Given the description of an element on the screen output the (x, y) to click on. 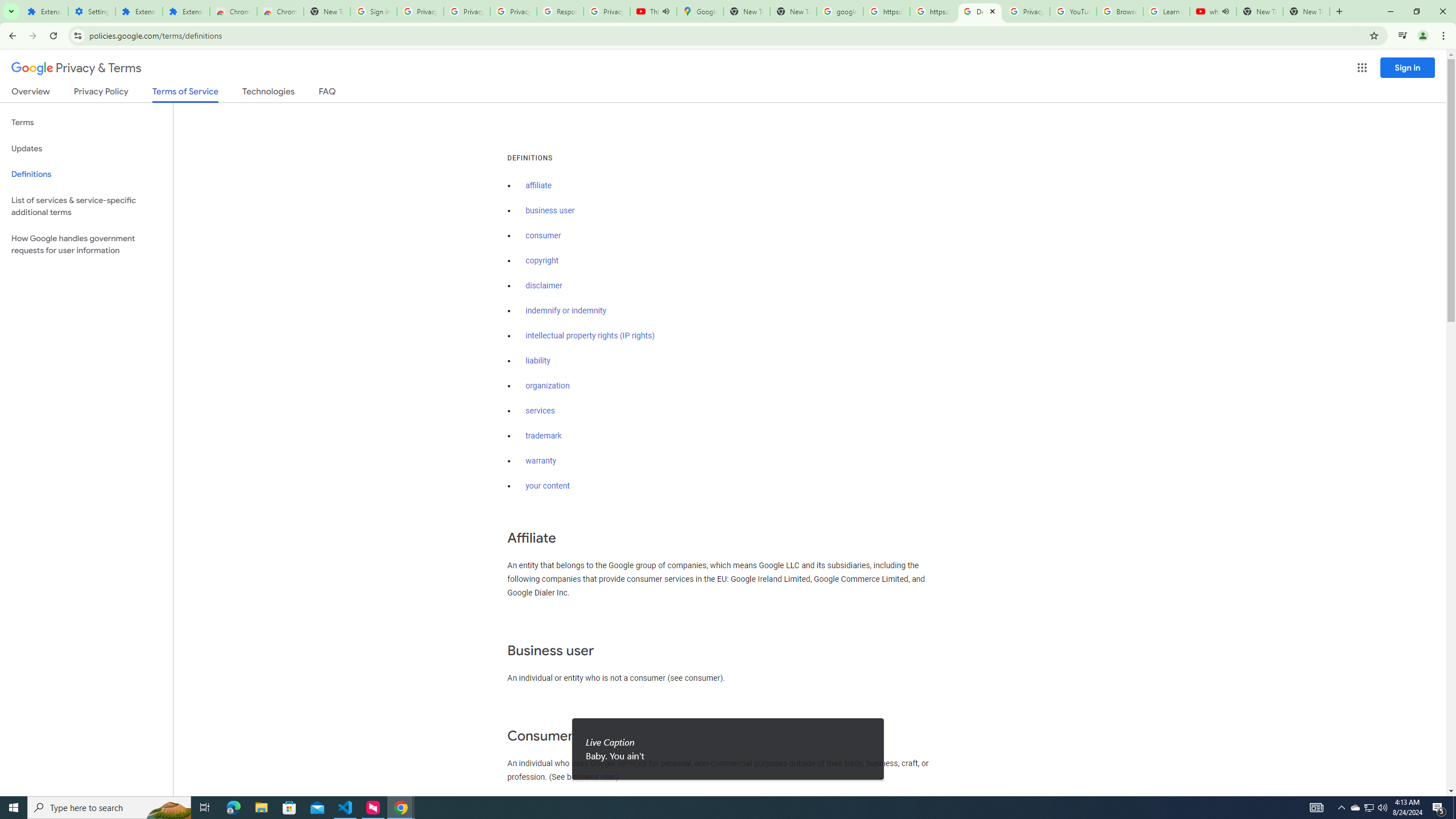
Technologies (268, 93)
Extensions (138, 11)
